Given the description of an element on the screen output the (x, y) to click on. 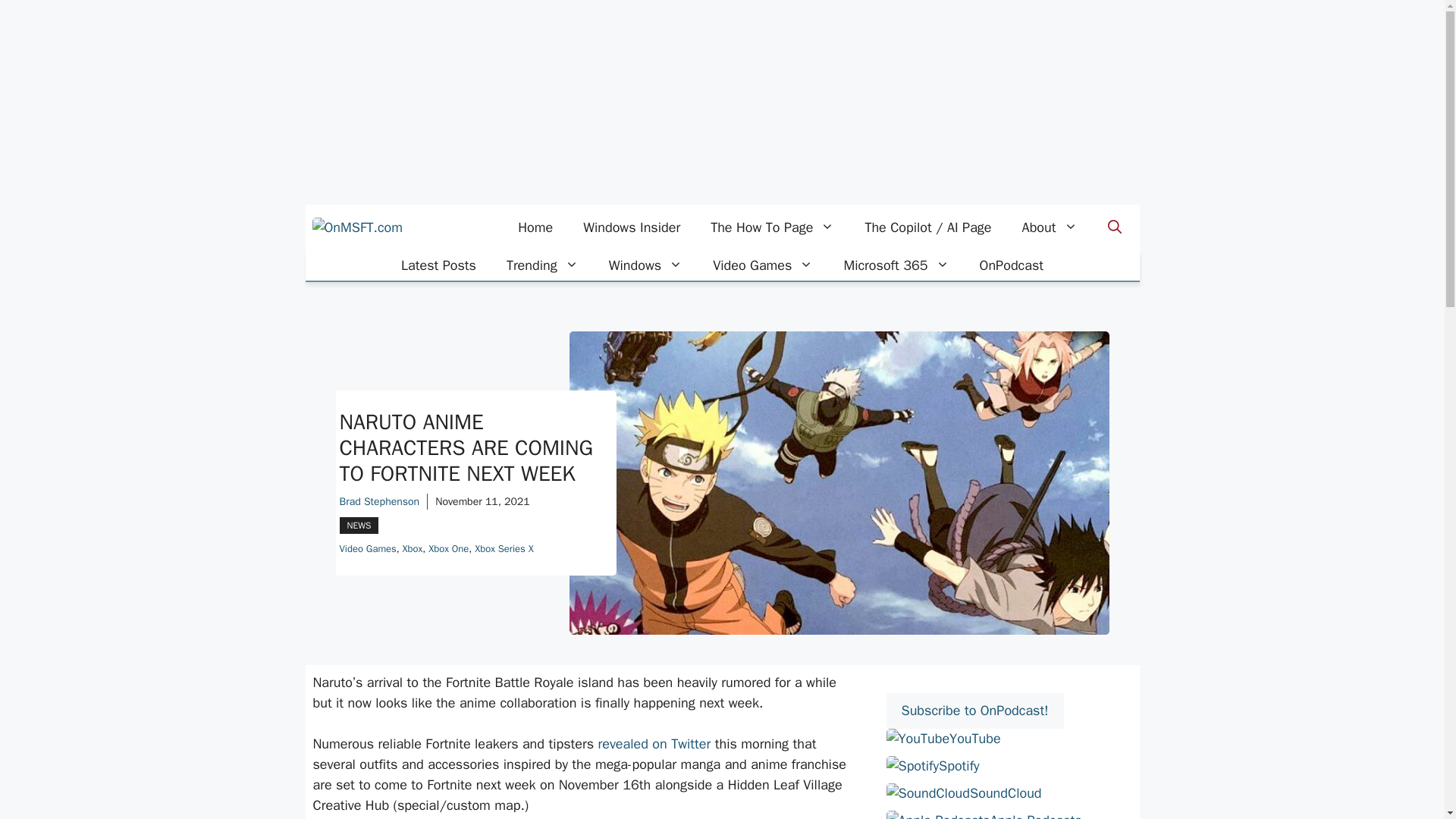
Windows Insider (631, 227)
Trending (543, 265)
Home (534, 227)
The How To Page (771, 227)
Windows (645, 265)
About (1050, 227)
Latest Posts (438, 265)
Video Games (762, 265)
